Given the description of an element on the screen output the (x, y) to click on. 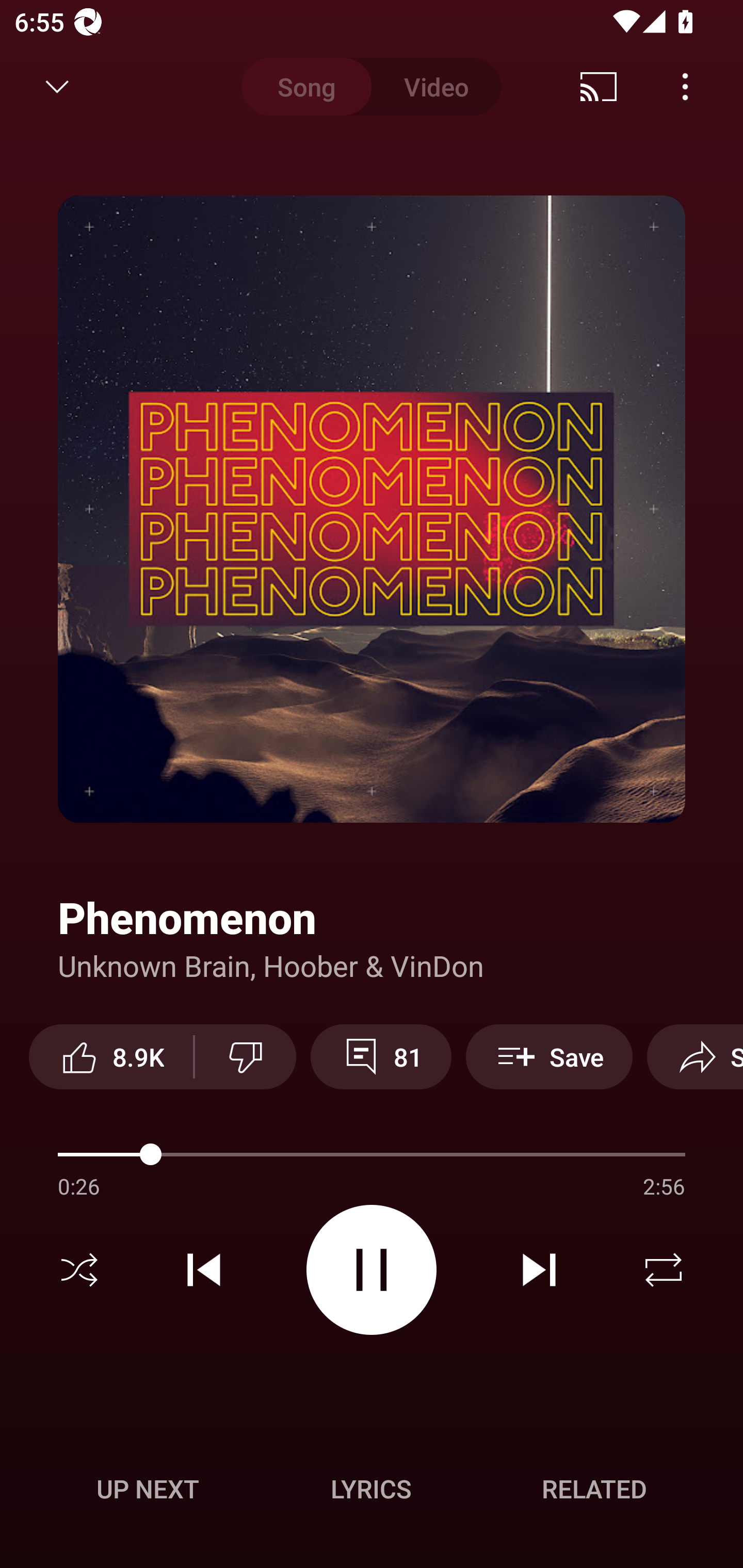
Minimize (57, 86)
Cast. Disconnected (598, 86)
Menu (684, 86)
8.9K like this video along with 8,972 other people (110, 1056)
Dislike (245, 1056)
81 View 81 comments (380, 1056)
Save Save to playlist (548, 1056)
Share (695, 1056)
Pause video (371, 1269)
Shuffle off (79, 1269)
Previous track (203, 1269)
Next track (538, 1269)
Repeat off (663, 1269)
Up next UP NEXT Lyrics LYRICS Related RELATED (371, 1491)
Lyrics LYRICS (370, 1488)
Related RELATED (594, 1488)
